Given the description of an element on the screen output the (x, y) to click on. 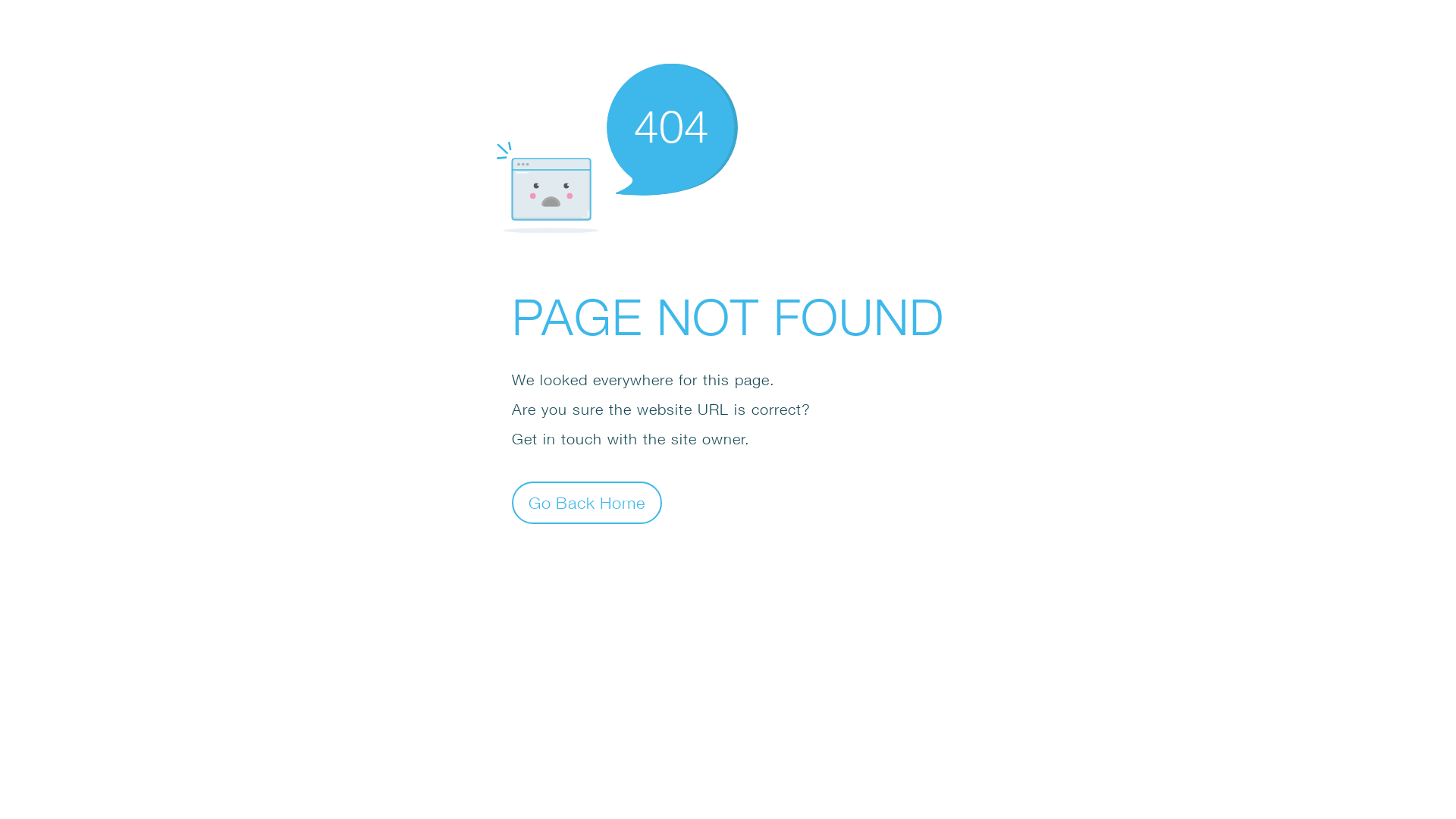
Go Back Home Element type: text (586, 502)
